Given the description of an element on the screen output the (x, y) to click on. 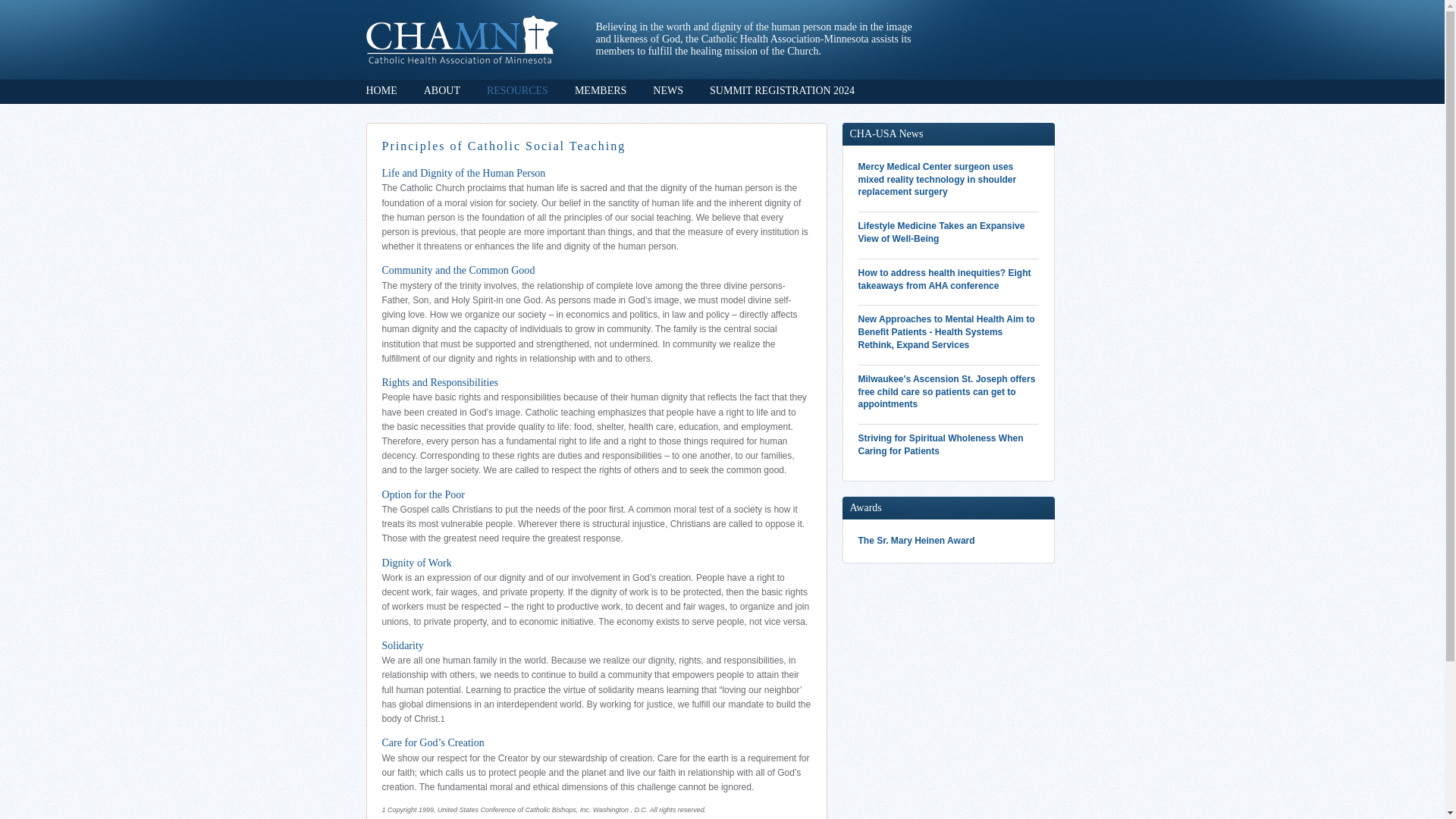
MEMBERS (600, 91)
RESOURCES (517, 91)
ABOUT (441, 91)
Lifestyle Medicine Takes an Expansive View of Well-Being (949, 232)
SUMMIT REGISTRATION 2024 (782, 91)
Catholic Health Association of Minnesota (461, 39)
The Sr. Mary Heinen Award (949, 540)
NEWS (667, 91)
HOME (380, 91)
Catholic Health Association of Minnesota Blog Home (461, 39)
Striving for Spiritual Wholeness When Caring for Patients (949, 444)
